Given the description of an element on the screen output the (x, y) to click on. 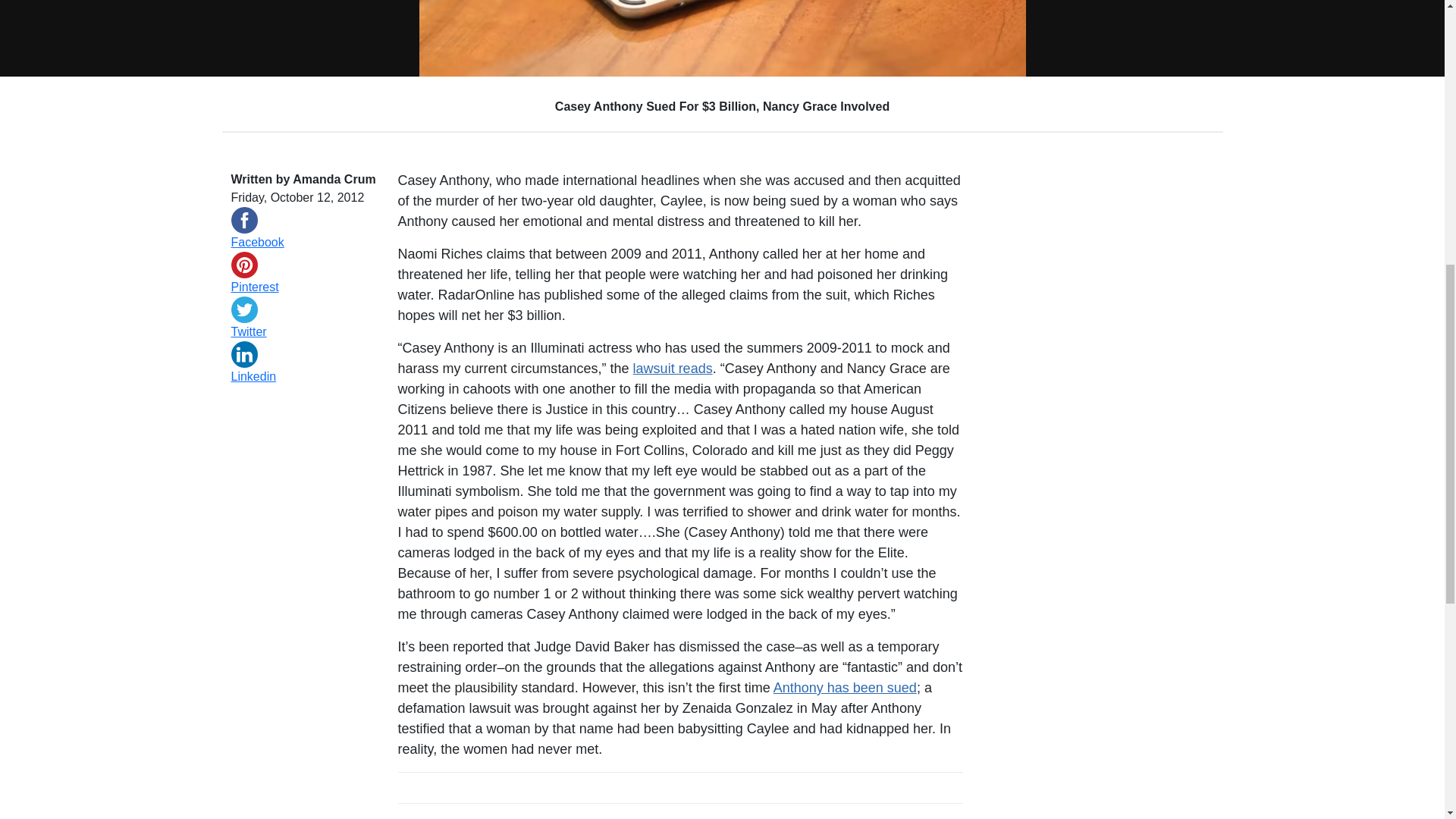
Linkedin (304, 376)
facebook (243, 220)
linkedin (243, 354)
pinterest (243, 264)
twitter (243, 309)
Facebook (304, 242)
Pinterest (304, 287)
Twitter (304, 331)
